Given the description of an element on the screen output the (x, y) to click on. 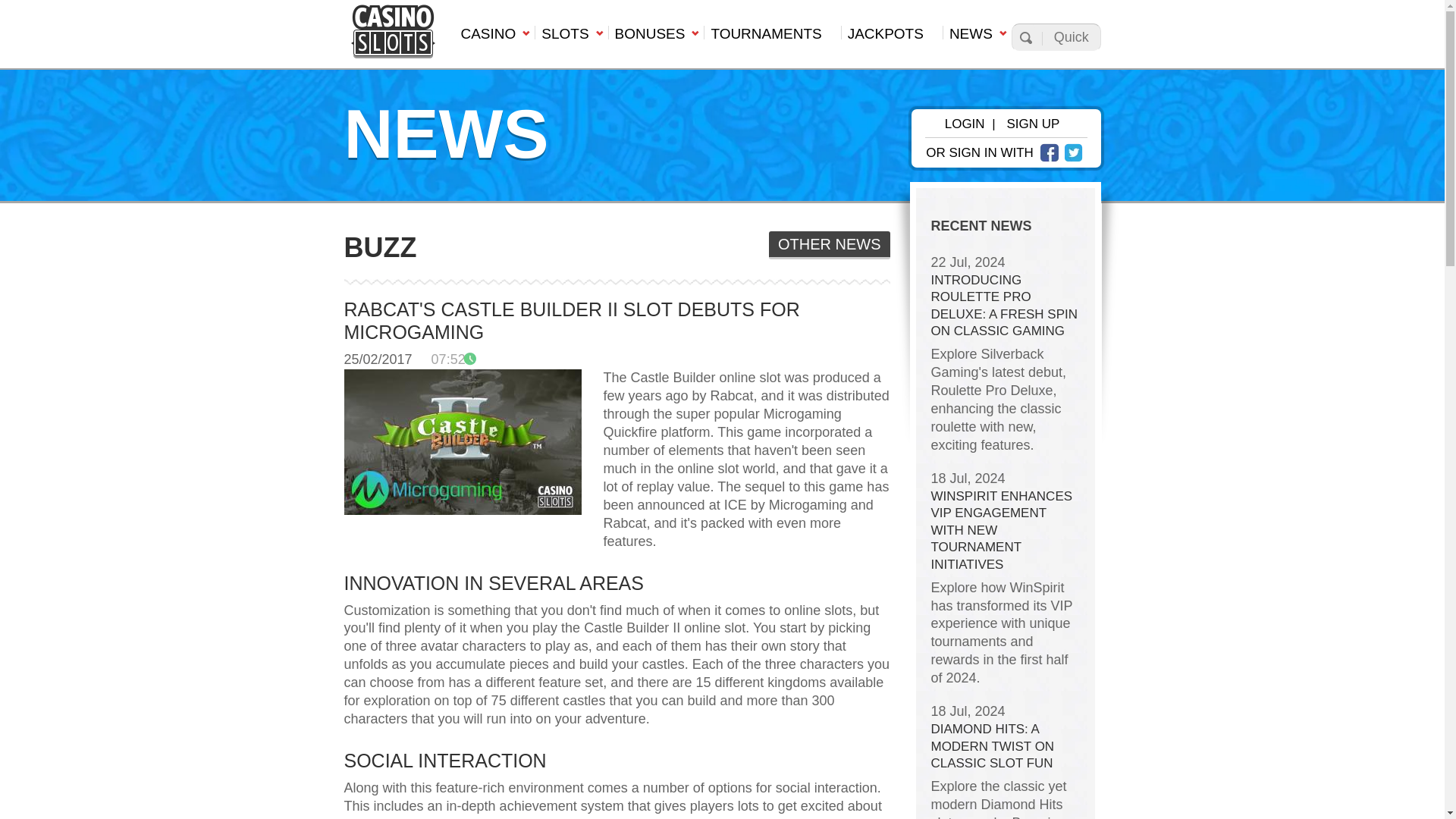
CASINO (493, 37)
SIGN UP (1032, 124)
NEWS (976, 37)
JACKPOTS (891, 37)
SLOTS (570, 37)
OTHER NEWS (828, 244)
BONUSES (656, 37)
TOURNAMENTS (771, 37)
